Given the description of an element on the screen output the (x, y) to click on. 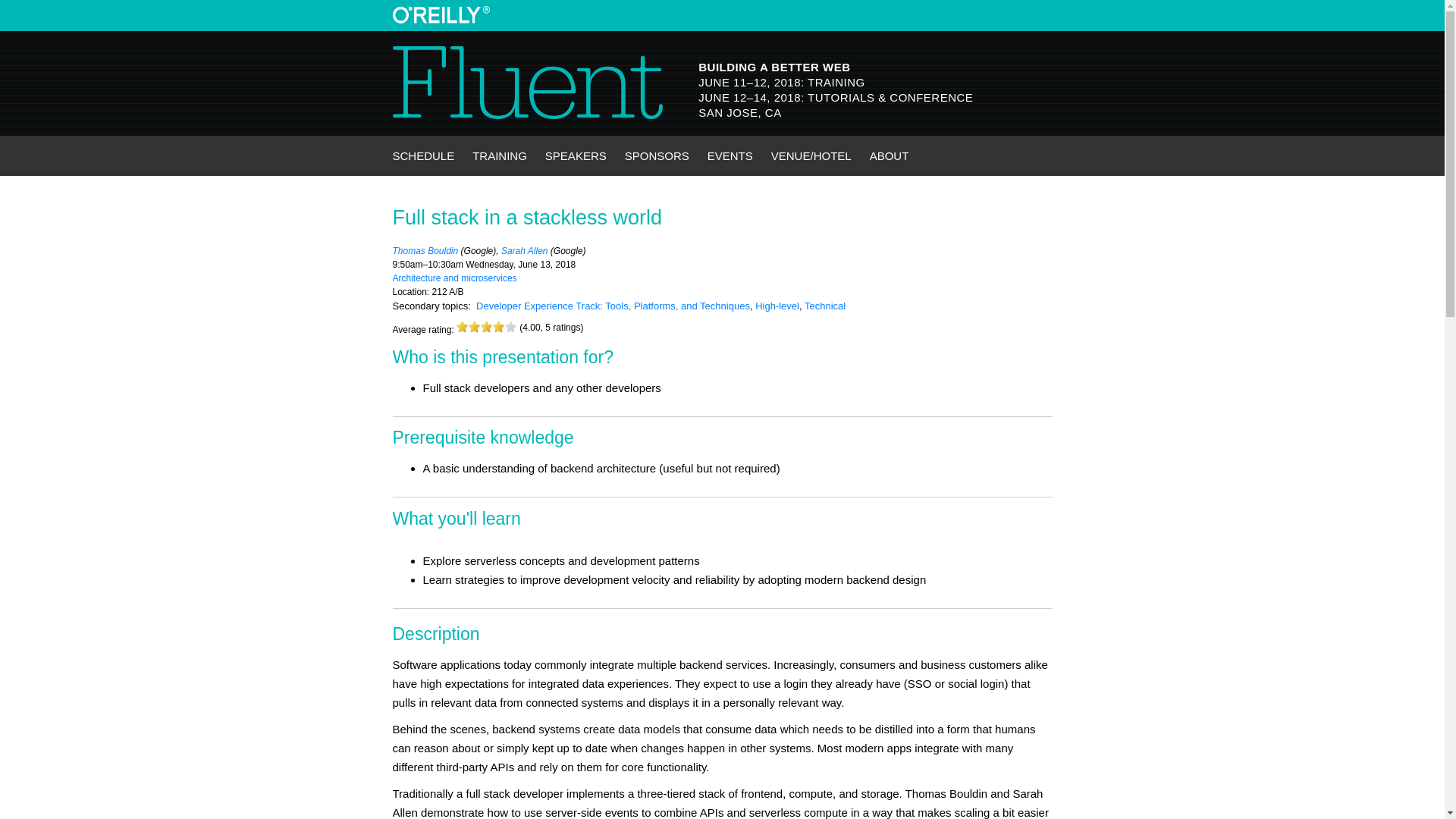
EVENTS (729, 155)
SCHEDULE (424, 155)
Technical (825, 306)
Sarah Allen (524, 250)
ABOUT (889, 155)
High-level (777, 306)
Developer Experience Track: Tools, Platforms, and Techniques (612, 306)
TRAINING (499, 155)
Thomas Bouldin (425, 250)
Architecture and microservices (454, 277)
